Given the description of an element on the screen output the (x, y) to click on. 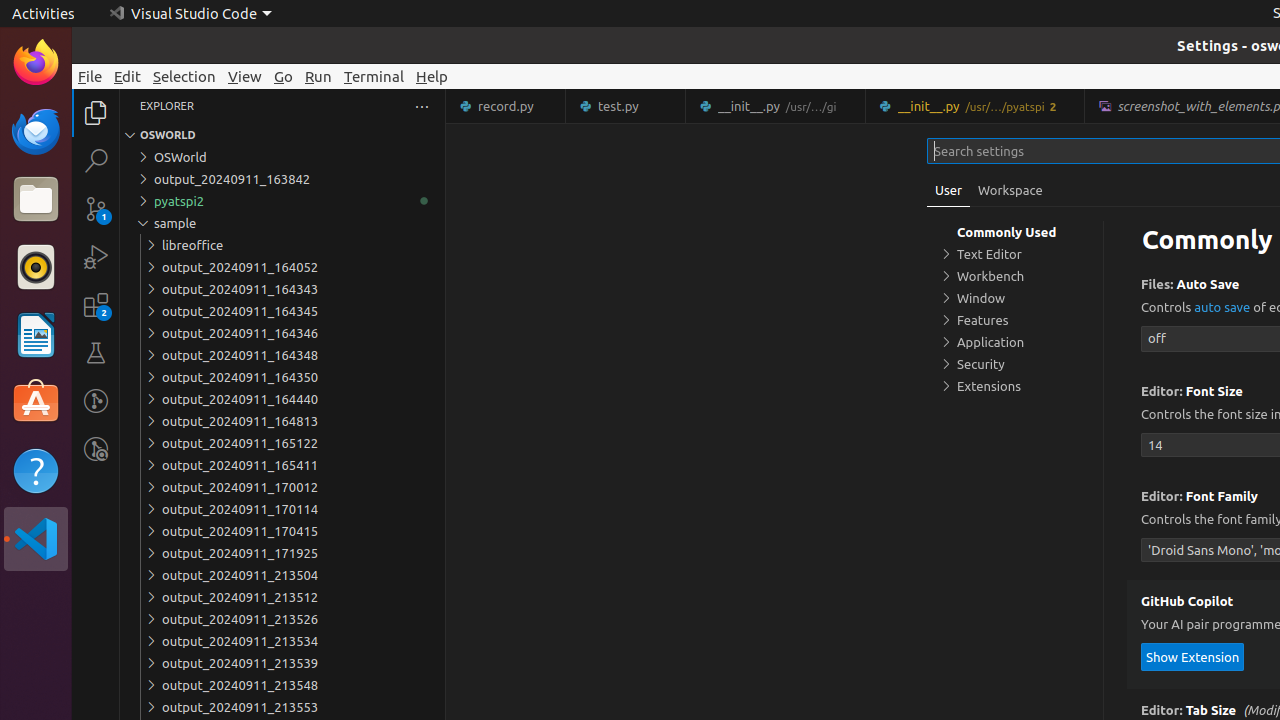
output_20240911_164052 Element type: tree-item (282, 267)
Workspace Element type: check-box (1010, 190)
output_20240911_213512 Element type: tree-item (282, 597)
Terminal Element type: push-button (374, 76)
